Given the description of an element on the screen output the (x, y) to click on. 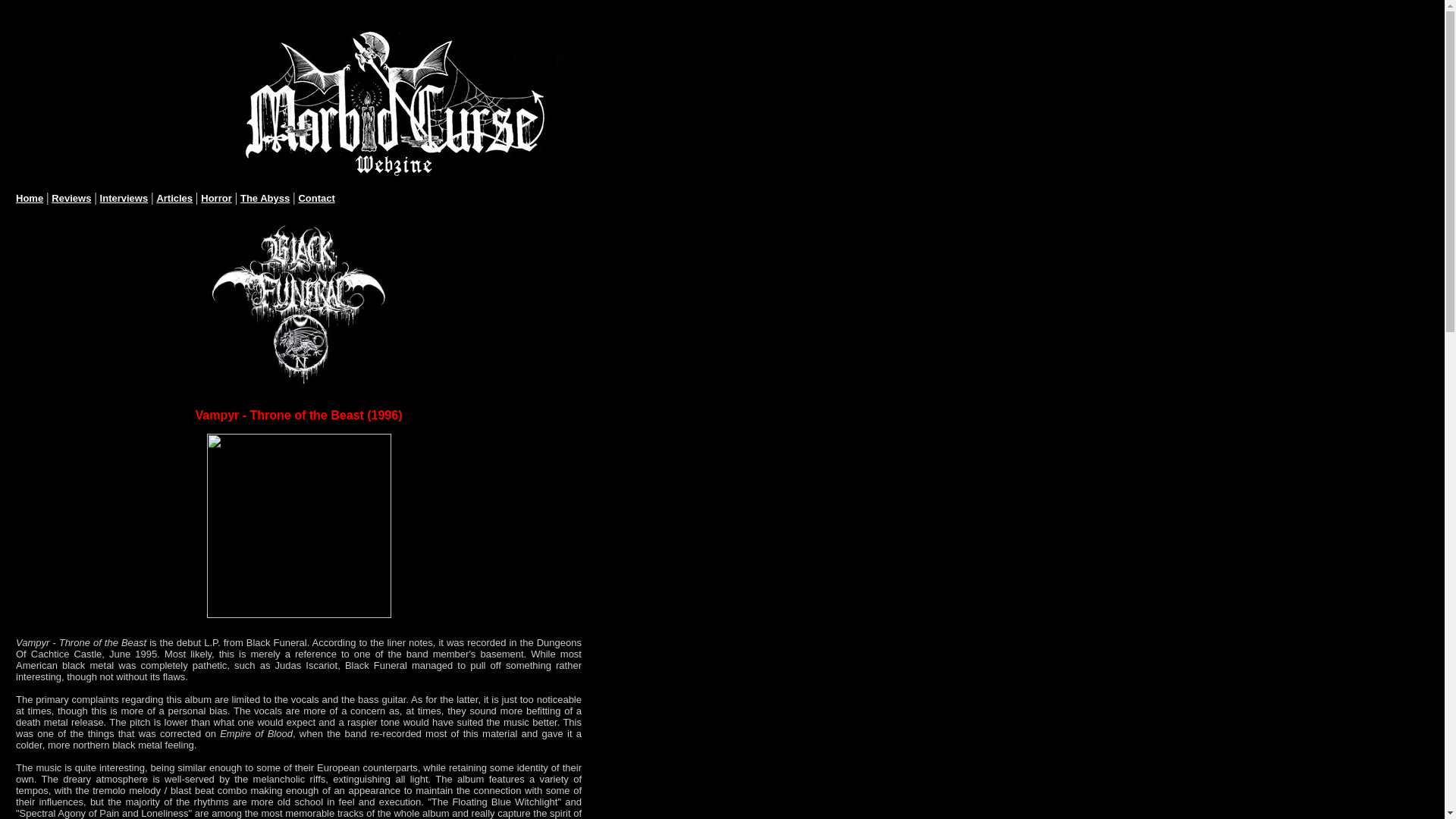
Articles (173, 197)
Horror (215, 197)
Reviews (70, 197)
Interviews (124, 197)
Contact (316, 197)
Home (29, 197)
The Abyss (264, 197)
